Given the description of an element on the screen output the (x, y) to click on. 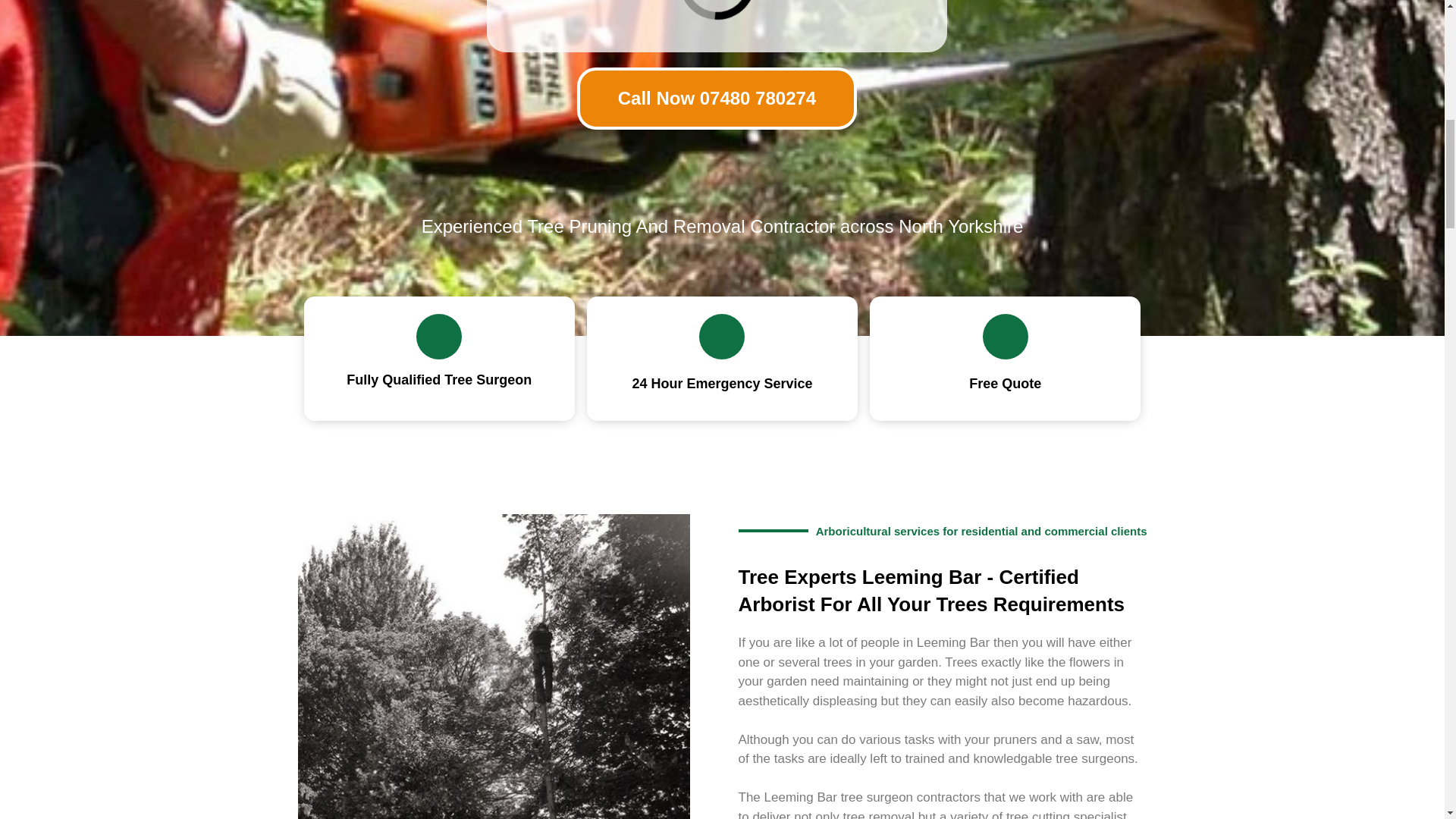
Scroll back to top (1406, 720)
Call Now 07480 780274 (716, 97)
